Given the description of an element on the screen output the (x, y) to click on. 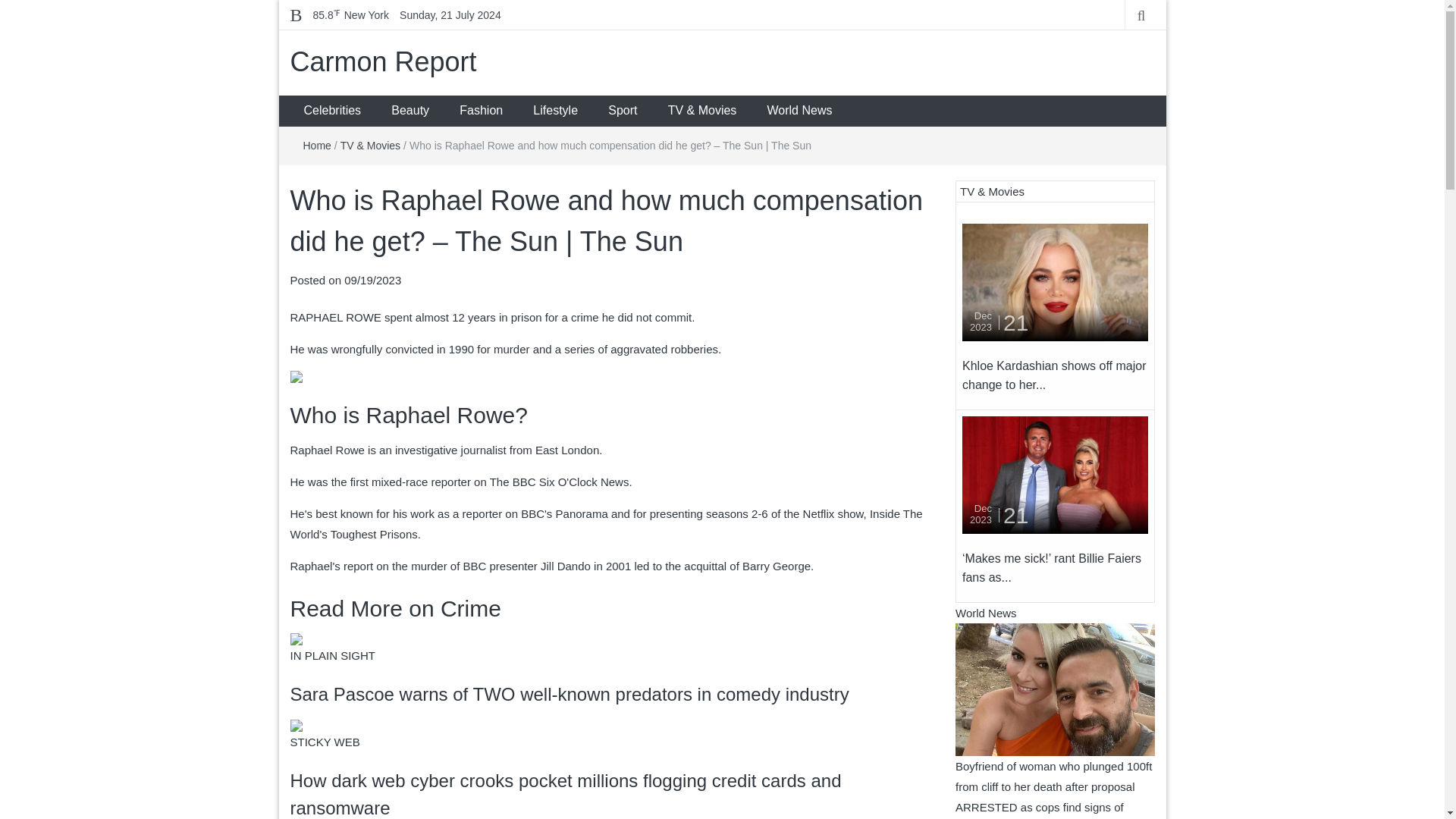
Khloe Kardashian shows off major change to her... (1054, 375)
Sport (622, 110)
Home (316, 145)
Carmon Report (382, 60)
Clear (350, 14)
Beauty (409, 110)
Search (15, 6)
Celebrities (331, 110)
World News (799, 110)
Fashion (480, 110)
Lifestyle (555, 110)
